Given the description of an element on the screen output the (x, y) to click on. 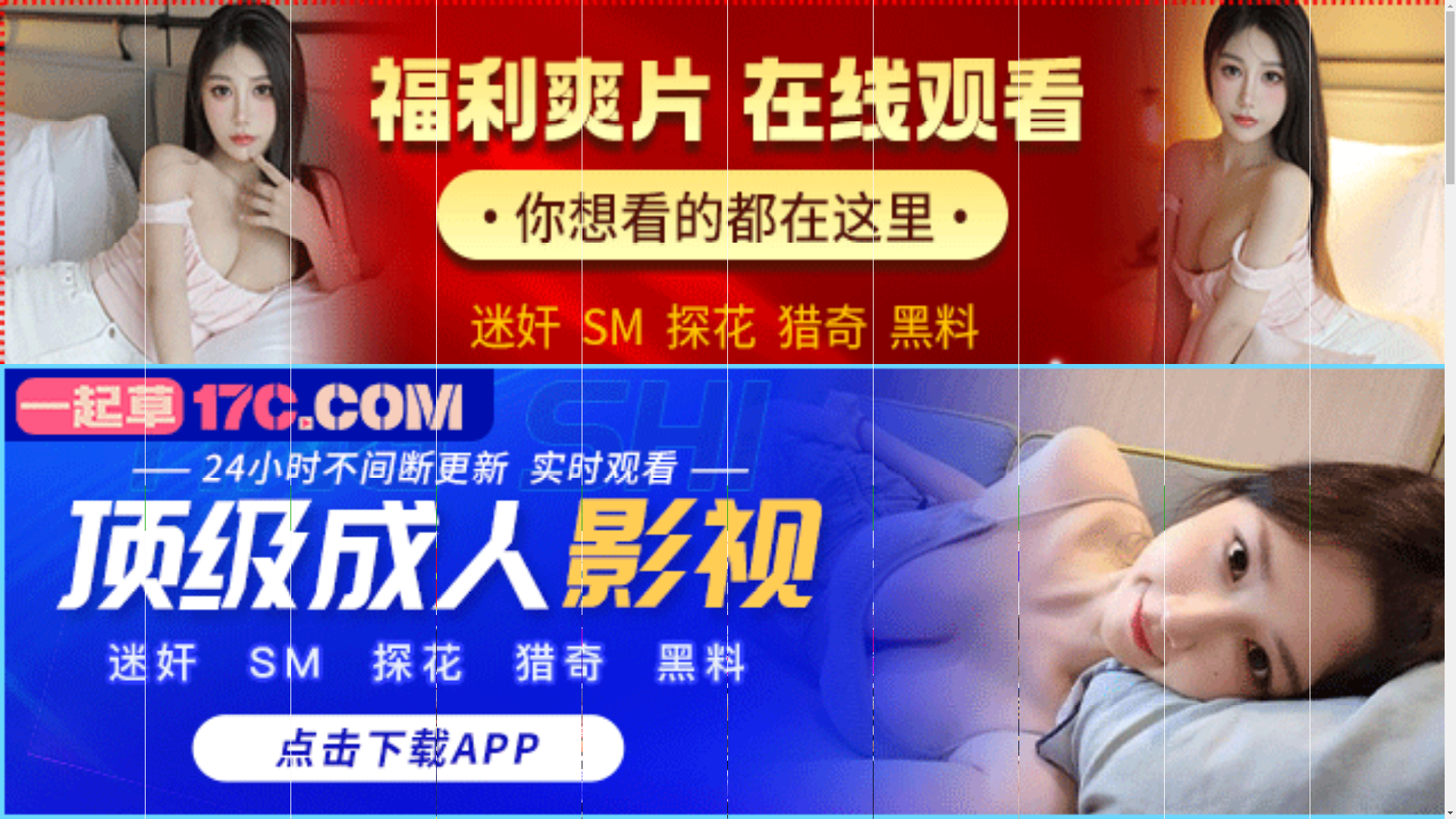
139now.Com Element type: text (411, 503)
www.xmkk5.com Element type: text (693, 515)
